Given the description of an element on the screen output the (x, y) to click on. 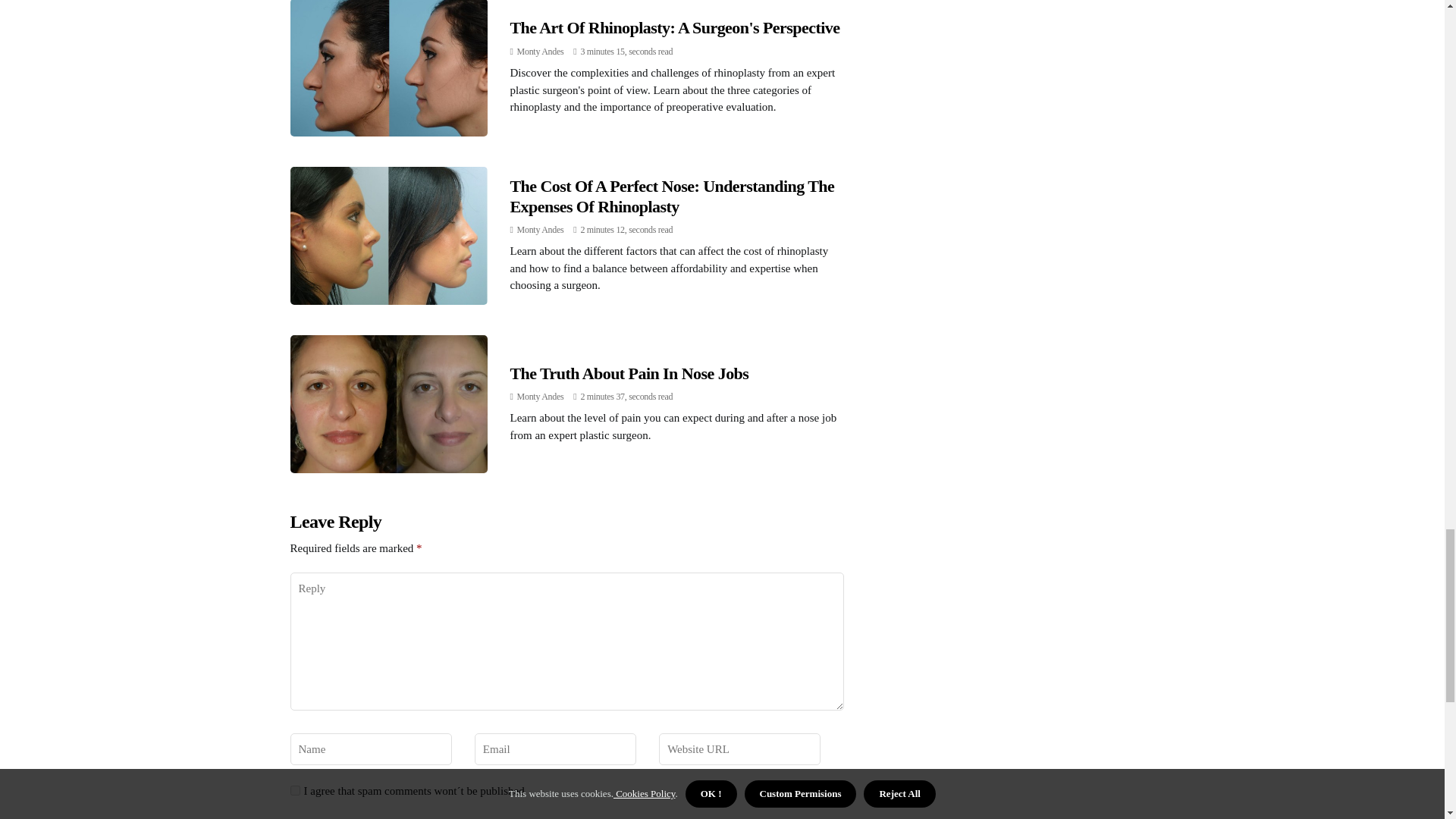
Posts by Monty Andes (540, 229)
Monty Andes (540, 229)
Monty Andes (540, 50)
Monty Andes (540, 396)
The Truth About Pain In Nose Jobs (628, 373)
yes (294, 790)
The Art Of Rhinoplasty: A Surgeon'S Perspective (674, 27)
Posts by Monty Andes (540, 396)
Posts by Monty Andes (540, 50)
